Given the description of an element on the screen output the (x, y) to click on. 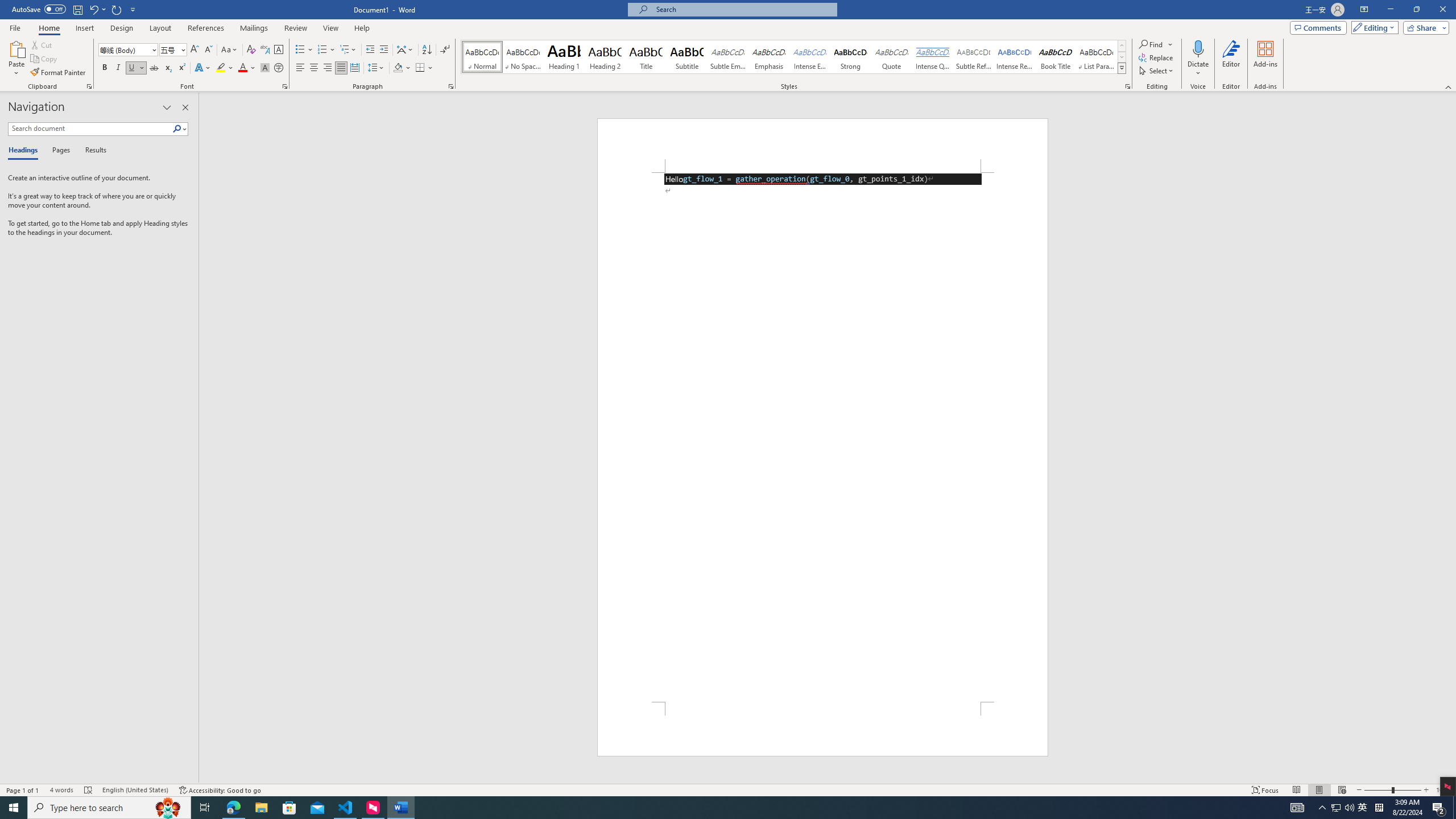
Title (646, 56)
Office Clipboard... (88, 85)
Replace... (1156, 56)
Superscript (180, 67)
Font Color Red (241, 67)
Shading RGB(0, 0, 0) (397, 67)
Zoom (1392, 790)
